Given the description of an element on the screen output the (x, y) to click on. 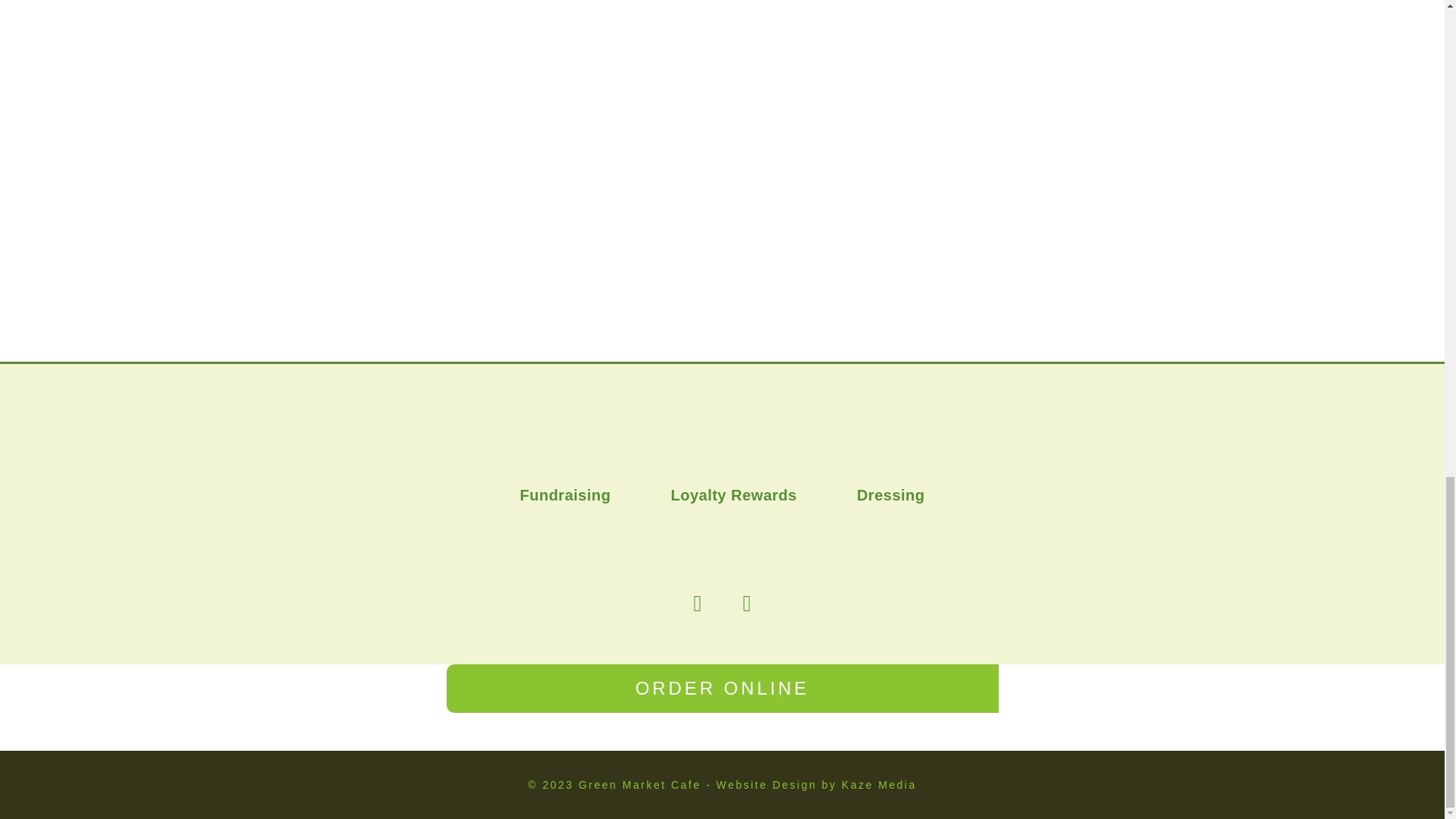
Dressing (890, 494)
ORDER ONLINE (721, 688)
Facebook-f (697, 603)
Instagram (746, 603)
Loyalty Rewards (732, 494)
Fundraising (565, 494)
Kaze Media (879, 784)
